Given the description of an element on the screen output the (x, y) to click on. 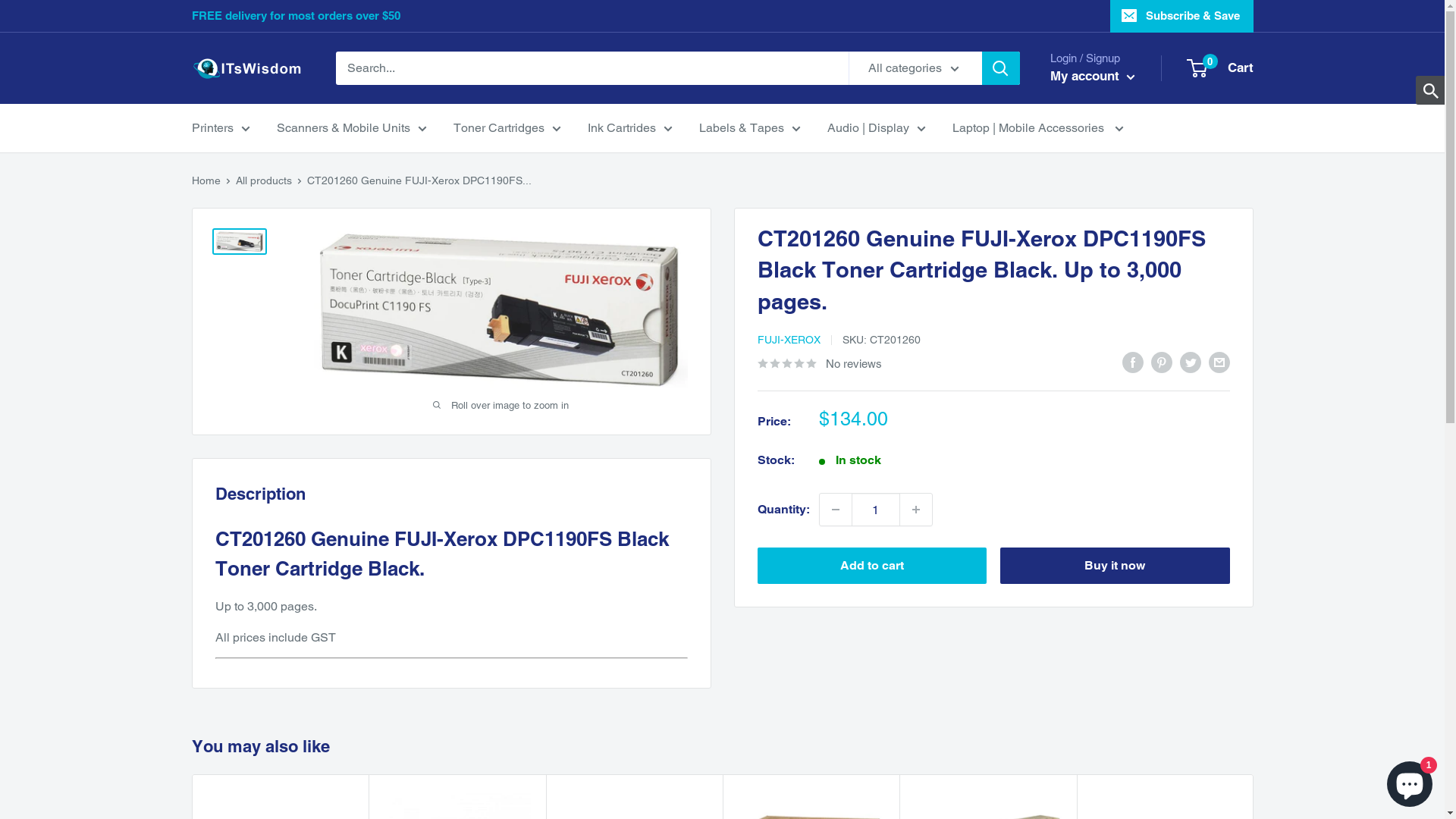
My account Element type: text (1091, 76)
Printers Element type: text (220, 127)
Labels & Tapes Element type: text (749, 127)
Subscribe & Save Element type: text (1181, 15)
Add to cart Element type: text (871, 565)
FUJI-XEROX Element type: text (787, 339)
Scanners & Mobile Units Element type: text (351, 127)
ItsWisdom Element type: text (247, 67)
Audio | Display Element type: text (875, 127)
All products Element type: text (263, 180)
No reviews Element type: text (818, 362)
Home Element type: text (205, 180)
0
Cart Element type: text (1219, 68)
Laptop | Mobile Accessories Element type: text (1037, 127)
Increase quantity by 1 Element type: hover (915, 509)
Ink Cartrides Element type: text (628, 127)
Toner Cartridges Element type: text (507, 127)
Decrease quantity by 1 Element type: hover (834, 509)
Buy it now Element type: text (1115, 565)
Shopify online store chat Element type: hover (1409, 780)
